Given the description of an element on the screen output the (x, y) to click on. 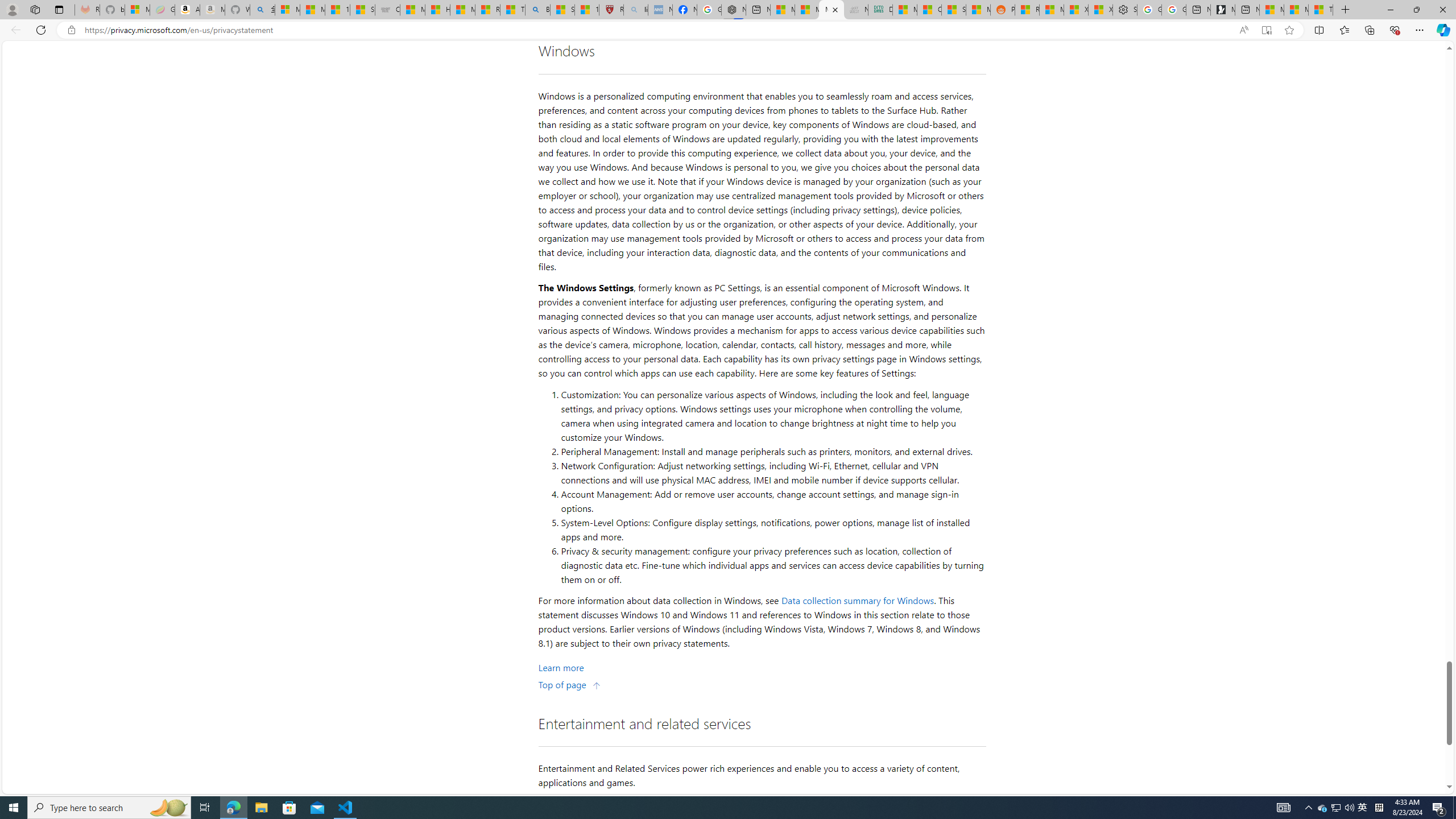
R******* | Trusted Community Engagement and Contributions (1026, 9)
Enter Immersive Reader (F9) (1266, 29)
Combat Siege (386, 9)
Microsoft-Report a Concern to Bing (136, 9)
